Given the description of an element on the screen output the (x, y) to click on. 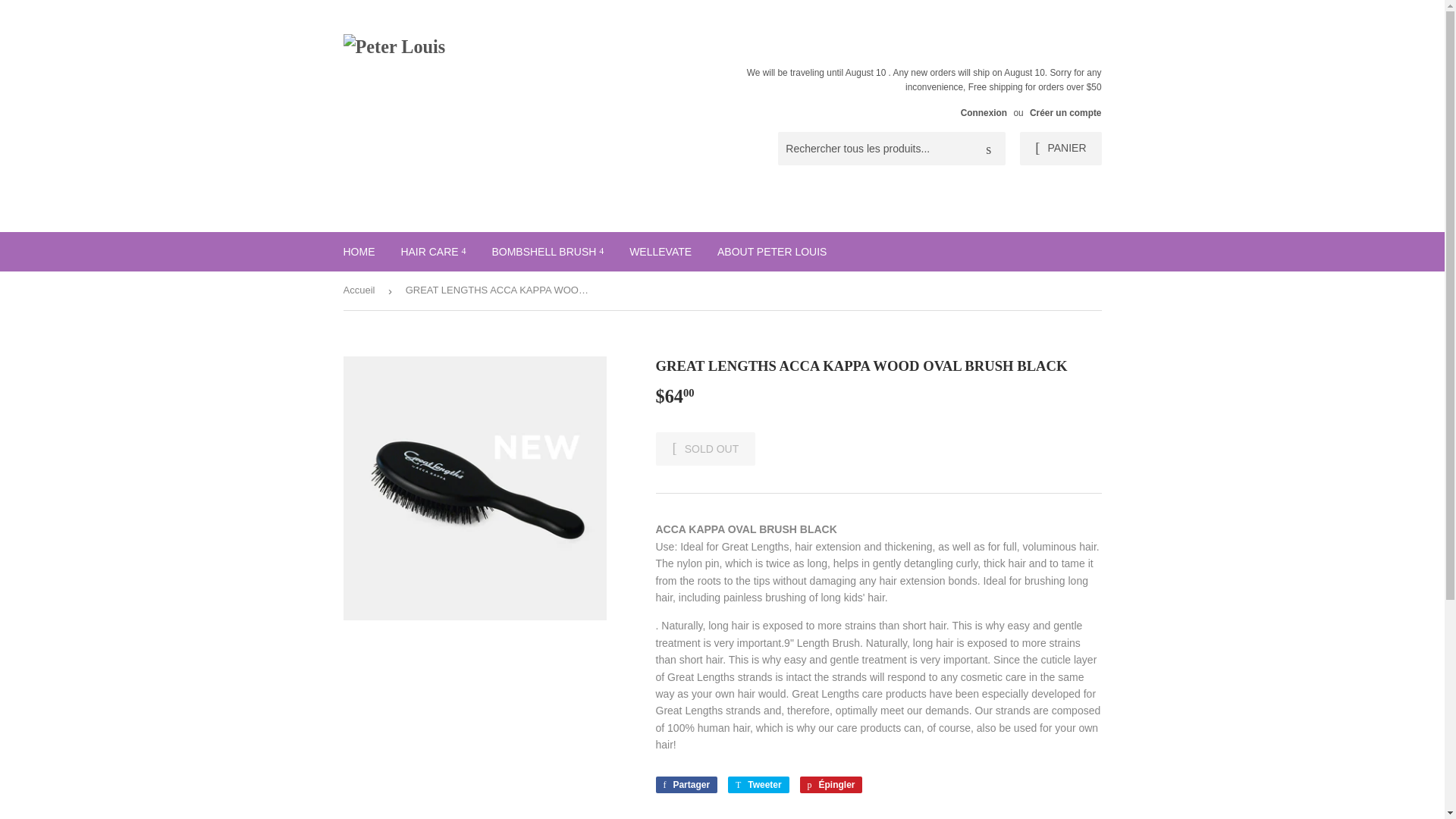
Chercher (988, 149)
PANIER (1060, 148)
Tweeter sur Twitter (758, 784)
Connexion (983, 112)
Partager sur Facebook (686, 784)
